Given the description of an element on the screen output the (x, y) to click on. 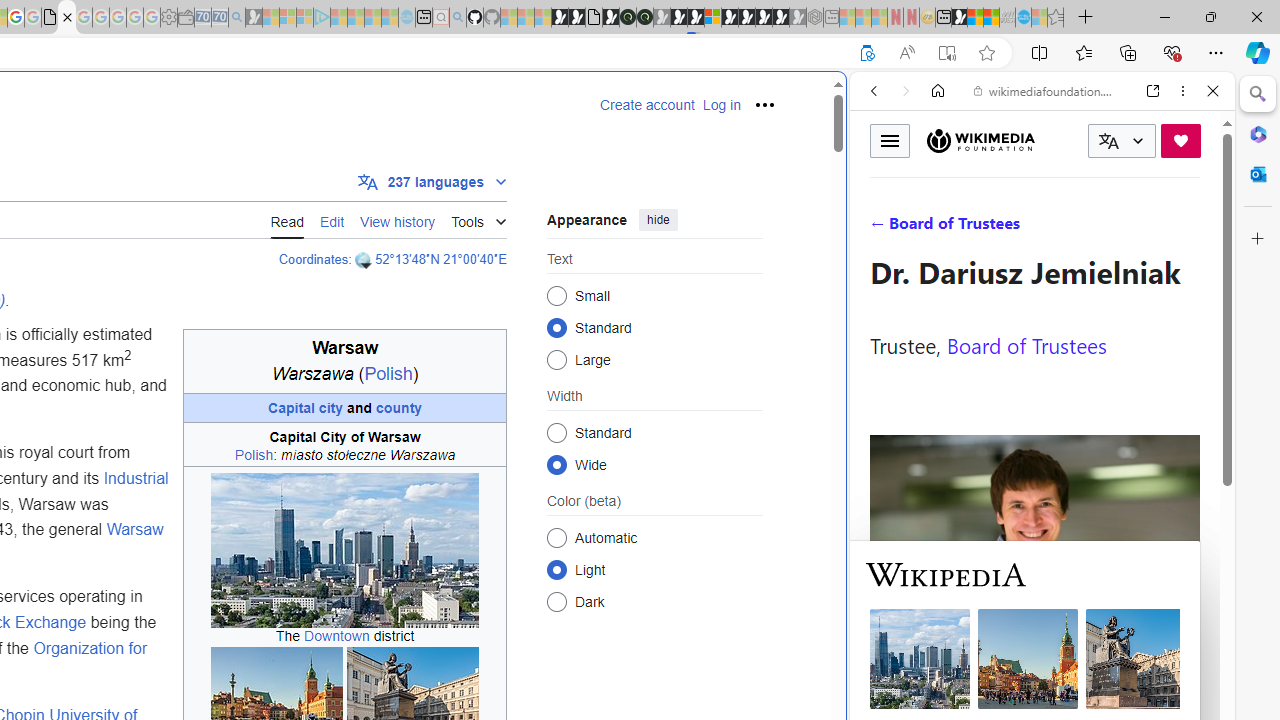
Create account (647, 105)
Personal tools (764, 104)
Capital city (305, 407)
Dark (556, 601)
